Given the description of an element on the screen output the (x, y) to click on. 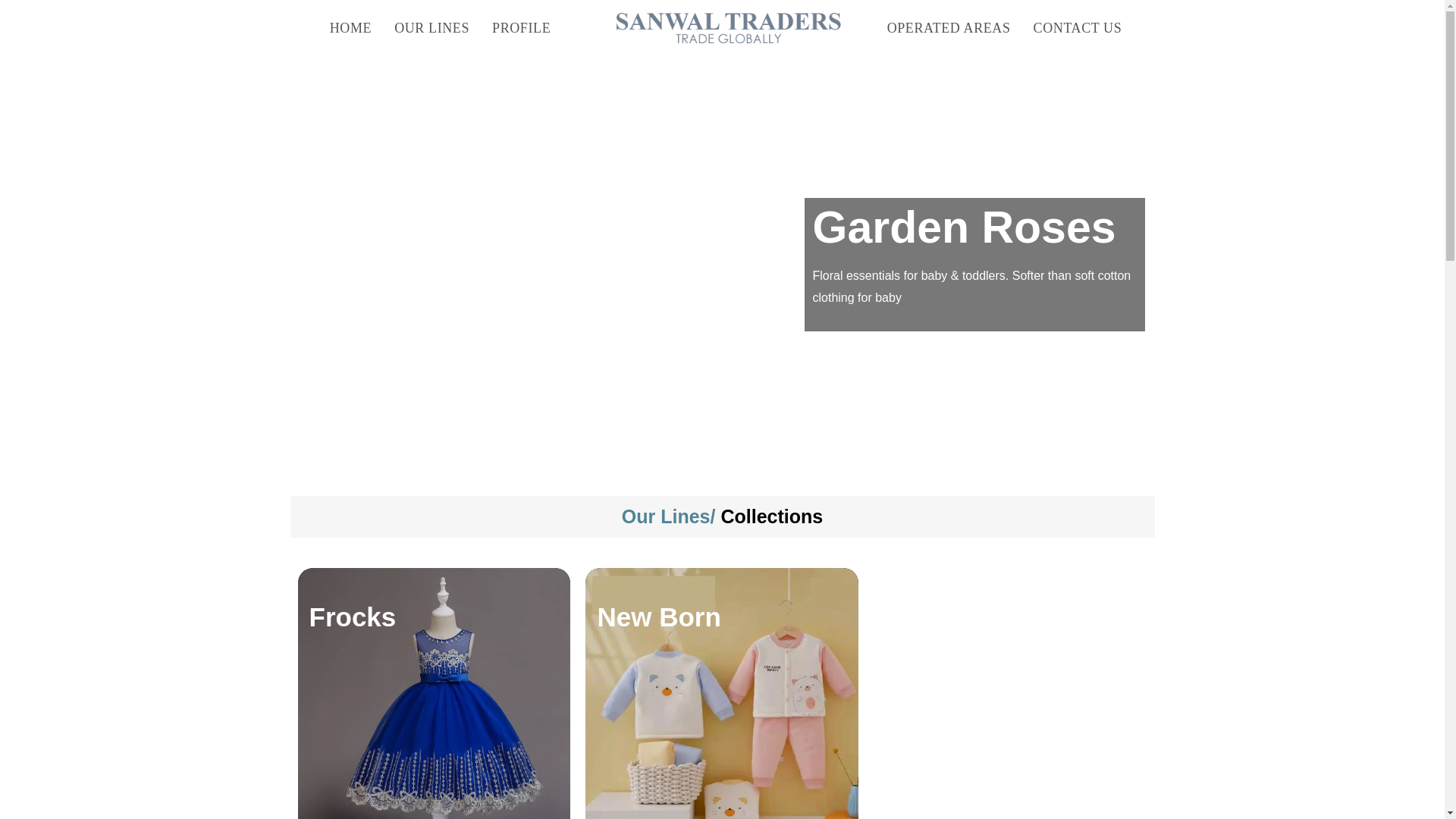
HOME (350, 28)
OPERATED AREAS (949, 28)
PROFILE (521, 28)
CONTACT US (1078, 28)
OUR LINES (431, 28)
